Given the description of an element on the screen output the (x, y) to click on. 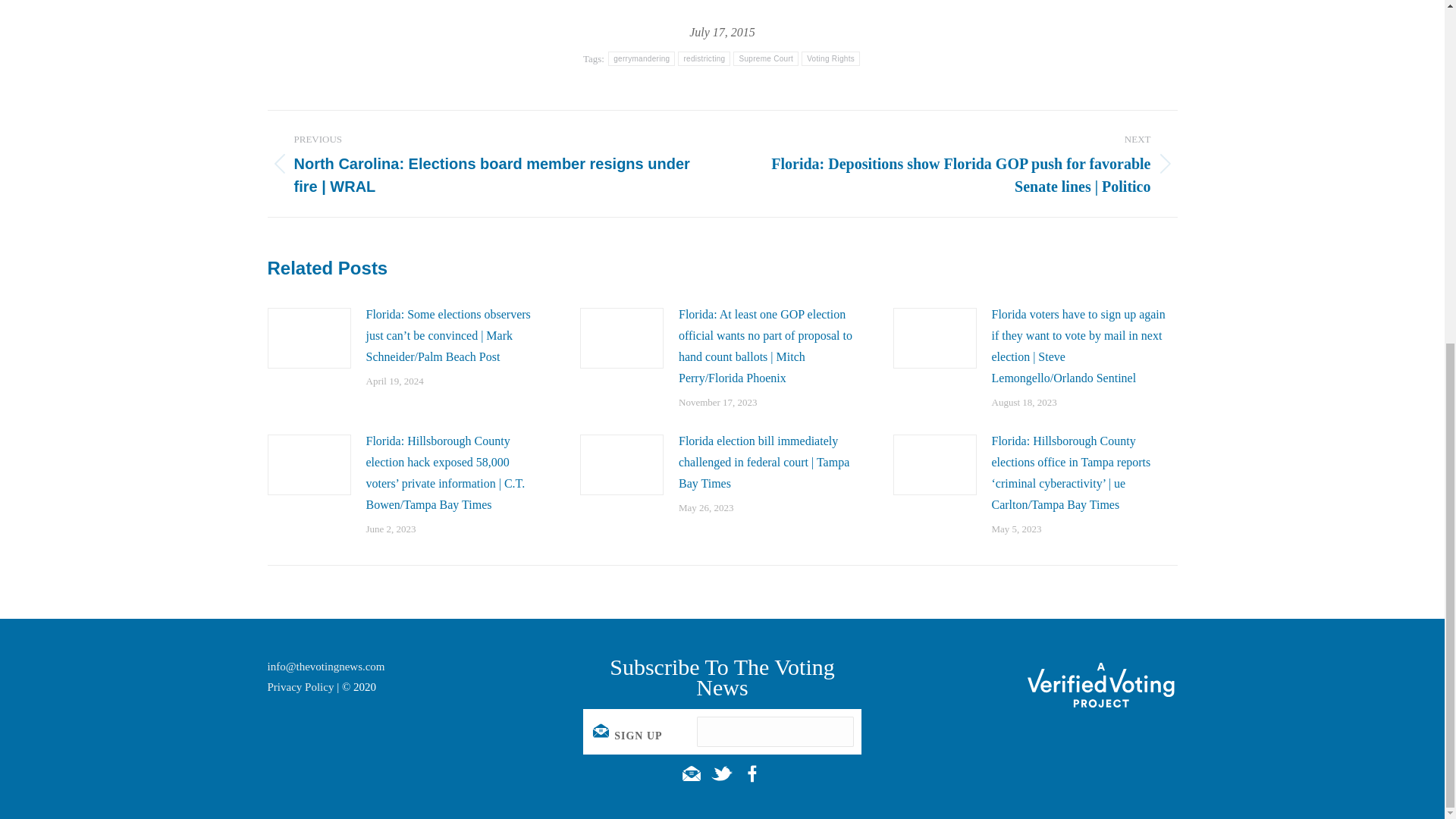
July 17, 2015 (721, 31)
redistricting (704, 58)
01:08 (721, 31)
Sign Up (628, 736)
gerrymandering (641, 58)
Voting Rights (831, 58)
Supreme Court (765, 58)
